Given the description of an element on the screen output the (x, y) to click on. 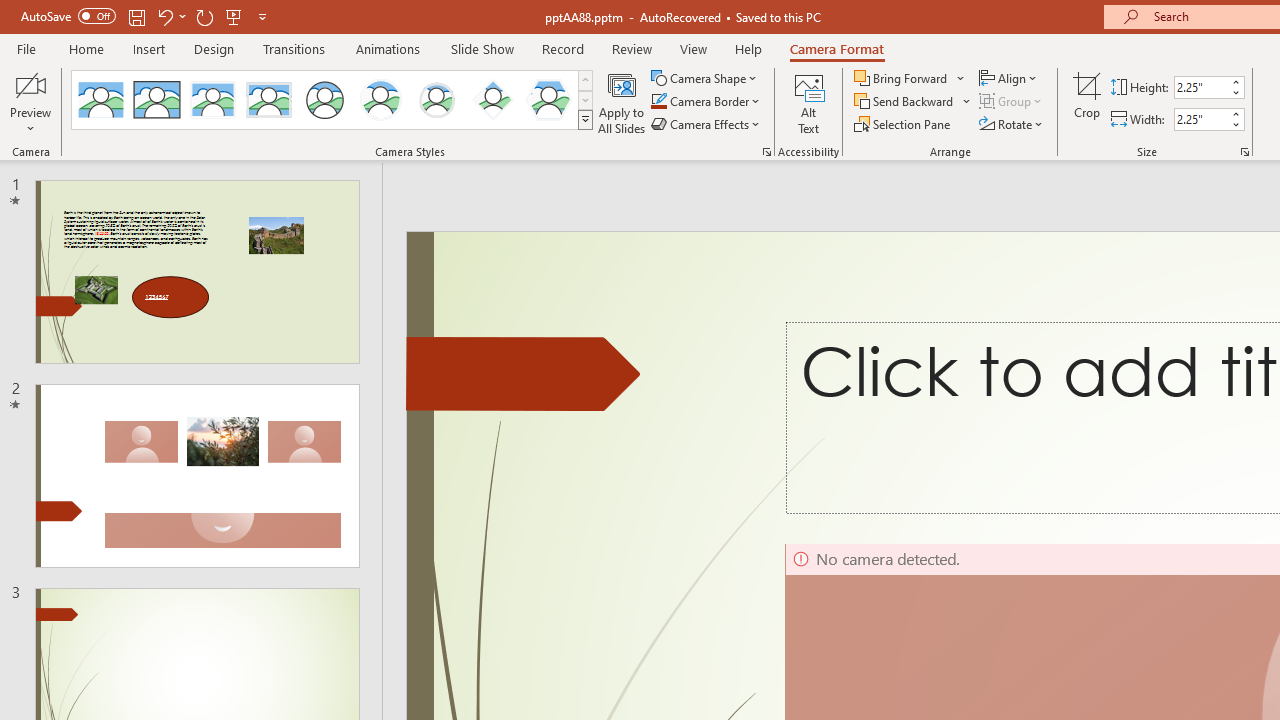
Camera Border Teal, Accent 1 (658, 101)
Bring Forward (910, 78)
Center Shadow Diamond (492, 100)
Simple Frame Circle (324, 100)
Selection Pane... (904, 124)
Group (1012, 101)
Soft Edge Rectangle (268, 100)
Camera Effects (706, 124)
Center Shadow Hexagon (548, 100)
No Style (100, 100)
